Given the description of an element on the screen output the (x, y) to click on. 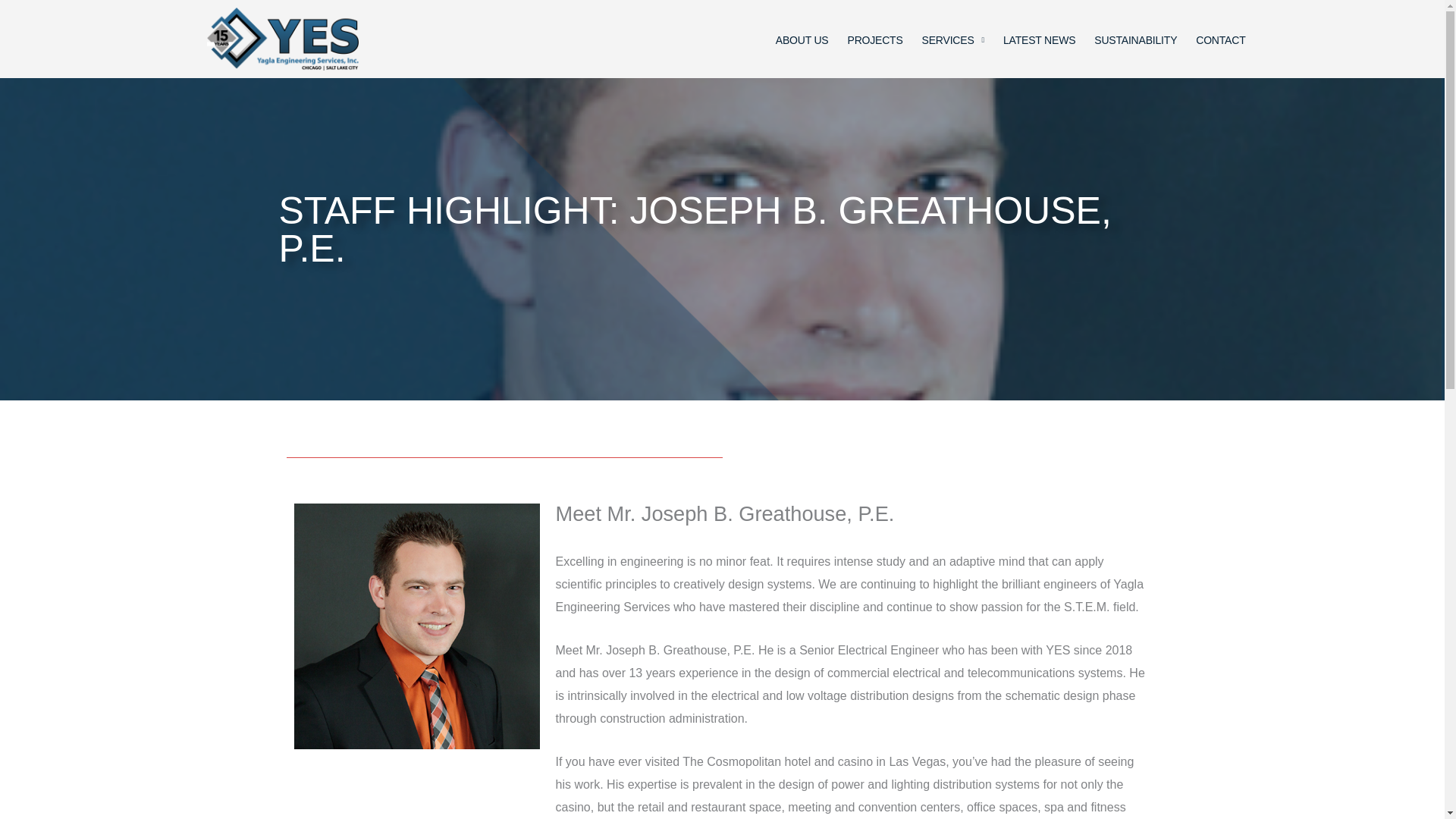
ABOUT US (801, 40)
SERVICES (952, 40)
CONTACT (1220, 40)
PROJECTS (875, 40)
LATEST NEWS (1039, 40)
SUSTAINABILITY (1135, 40)
